Given the description of an element on the screen output the (x, y) to click on. 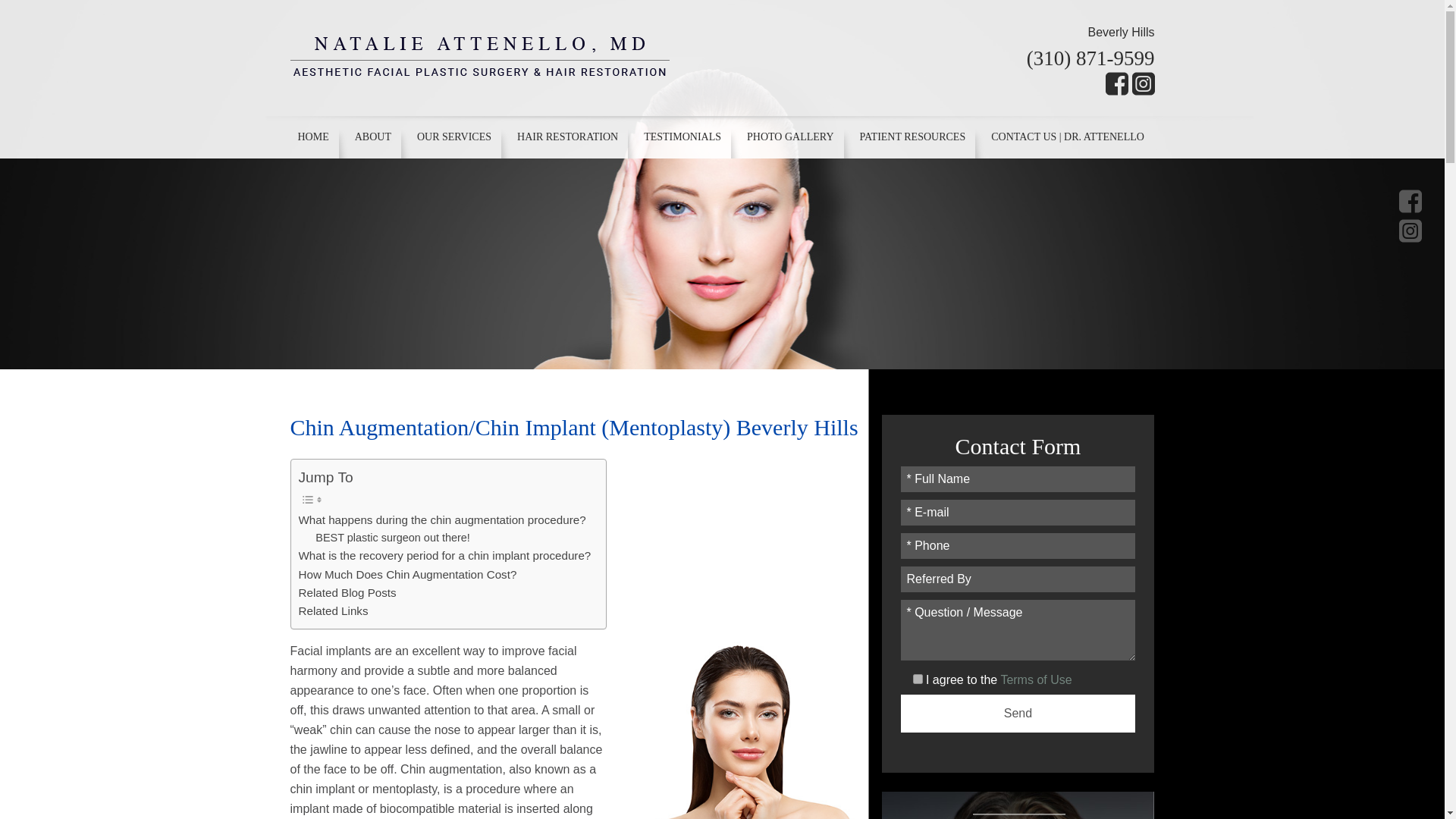
ABOUT (373, 137)
What happens during the chin augmentation procedure? (442, 520)
What happens during the chin augmentation procedure? (442, 520)
TESTIMONIALS (681, 137)
PHOTO GALLERY (789, 137)
1 (917, 678)
OUR SERVICES (453, 137)
Related Blog Posts (347, 592)
HOME (314, 137)
Related Links (333, 610)
Beverly Hills (1120, 31)
HAIR RESTORATION (566, 137)
Send (1018, 713)
What is the recovery period for a chin implant procedure? (444, 556)
PATIENT RESOURCES (912, 137)
